Given the description of an element on the screen output the (x, y) to click on. 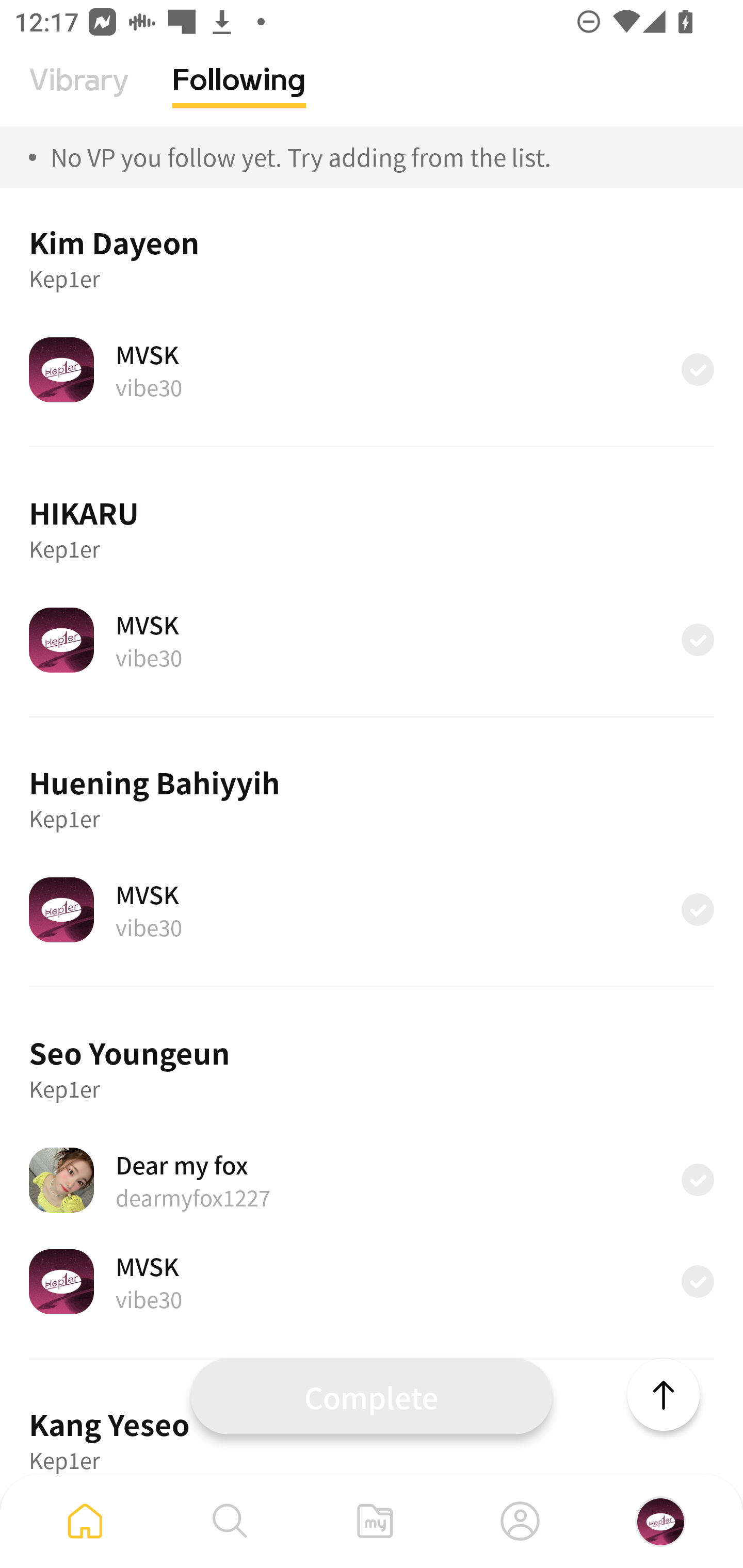
Vibrary (78, 95)
Following (239, 95)
MVSK vibe30 (371, 369)
MVSK vibe30 (371, 639)
MVSK vibe30 (371, 909)
Dear my fox dearmyfox1227 (371, 1179)
MVSK vibe30 (371, 1280)
Complete (371, 1395)
